Given the description of an element on the screen output the (x, y) to click on. 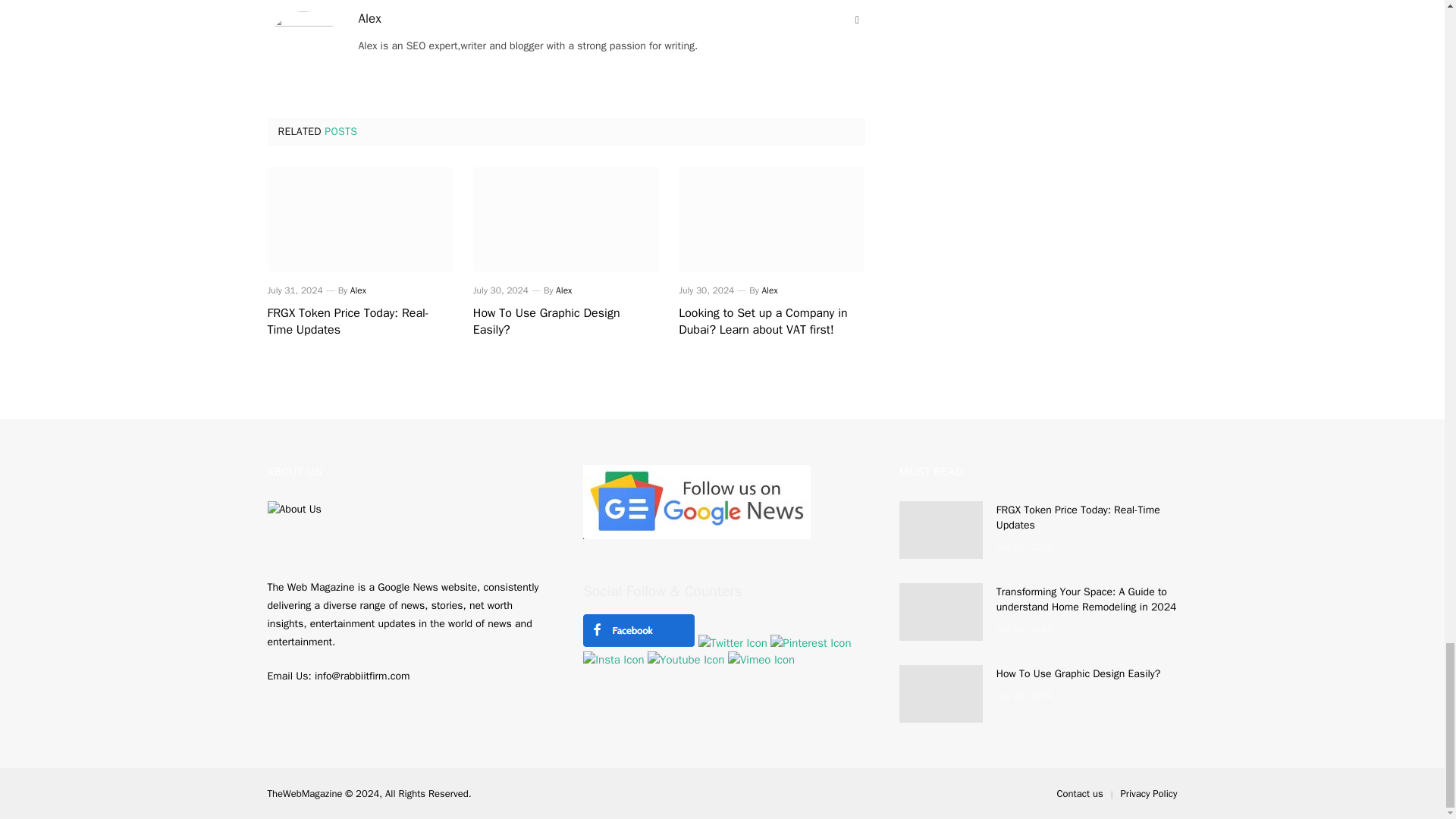
How To Use Graphic Design Easily? (566, 219)
Posts by Alex (358, 290)
FRGX Token Price Today: Real-Time Updates (359, 322)
Alex (769, 290)
Website (856, 20)
Posts by Alex (564, 290)
Alex (564, 290)
Website (856, 20)
FRGX Token Price Today: Real-Time Updates (359, 219)
Alex (358, 290)
Alex (369, 18)
Posts by Alex (369, 18)
How To Use Graphic Design Easily? (566, 322)
Looking to Set up a Company in Dubai? Learn about VAT first! (771, 322)
